Given the description of an element on the screen output the (x, y) to click on. 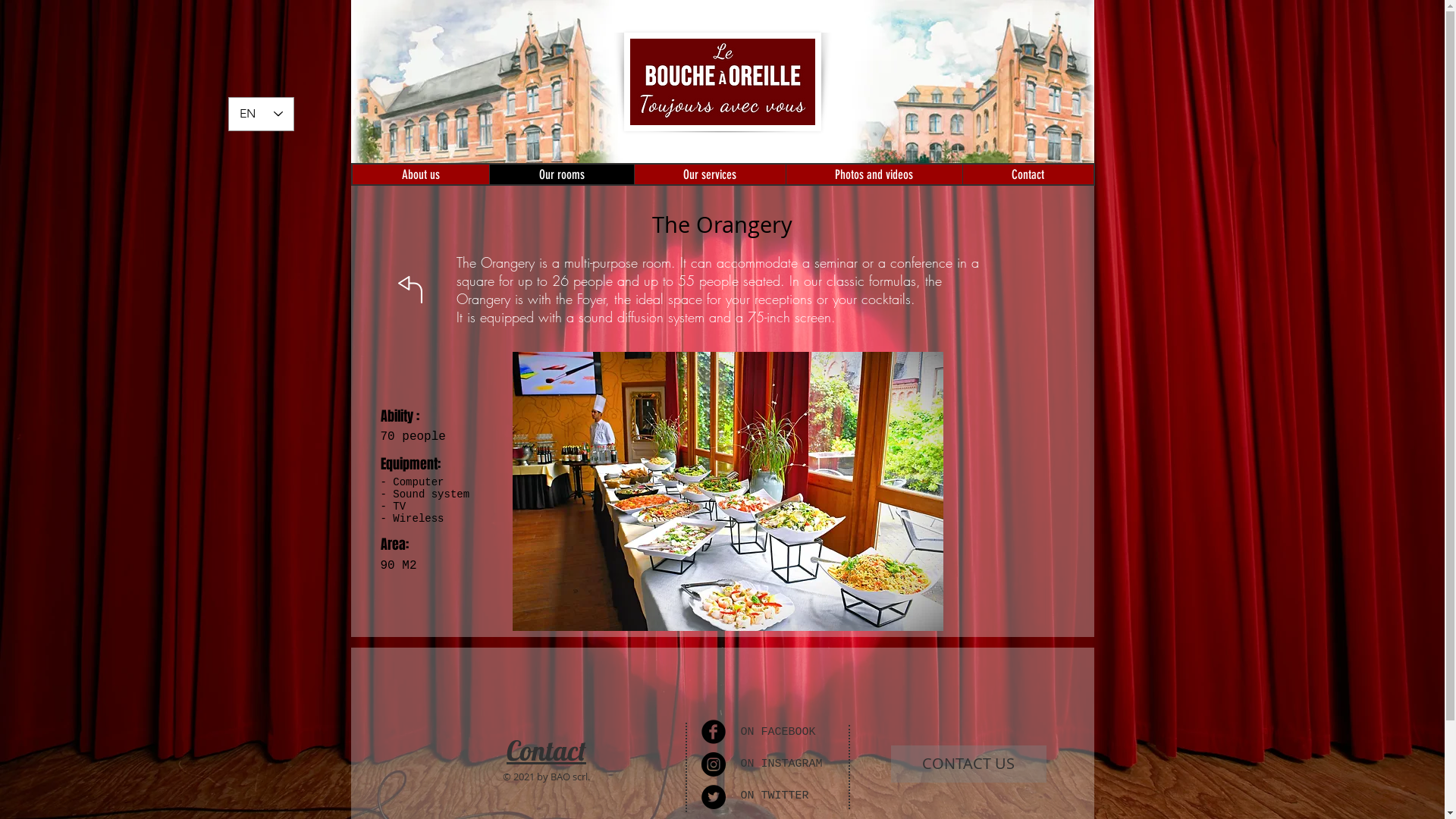
CONTACT US Element type: text (968, 763)
Our rooms Element type: text (560, 174)
Photos and videos Element type: text (873, 174)
Contact Element type: text (1026, 174)
About us Element type: text (419, 174)
Contact Element type: text (546, 750)
Our services Element type: text (709, 174)
